Given the description of an element on the screen output the (x, y) to click on. 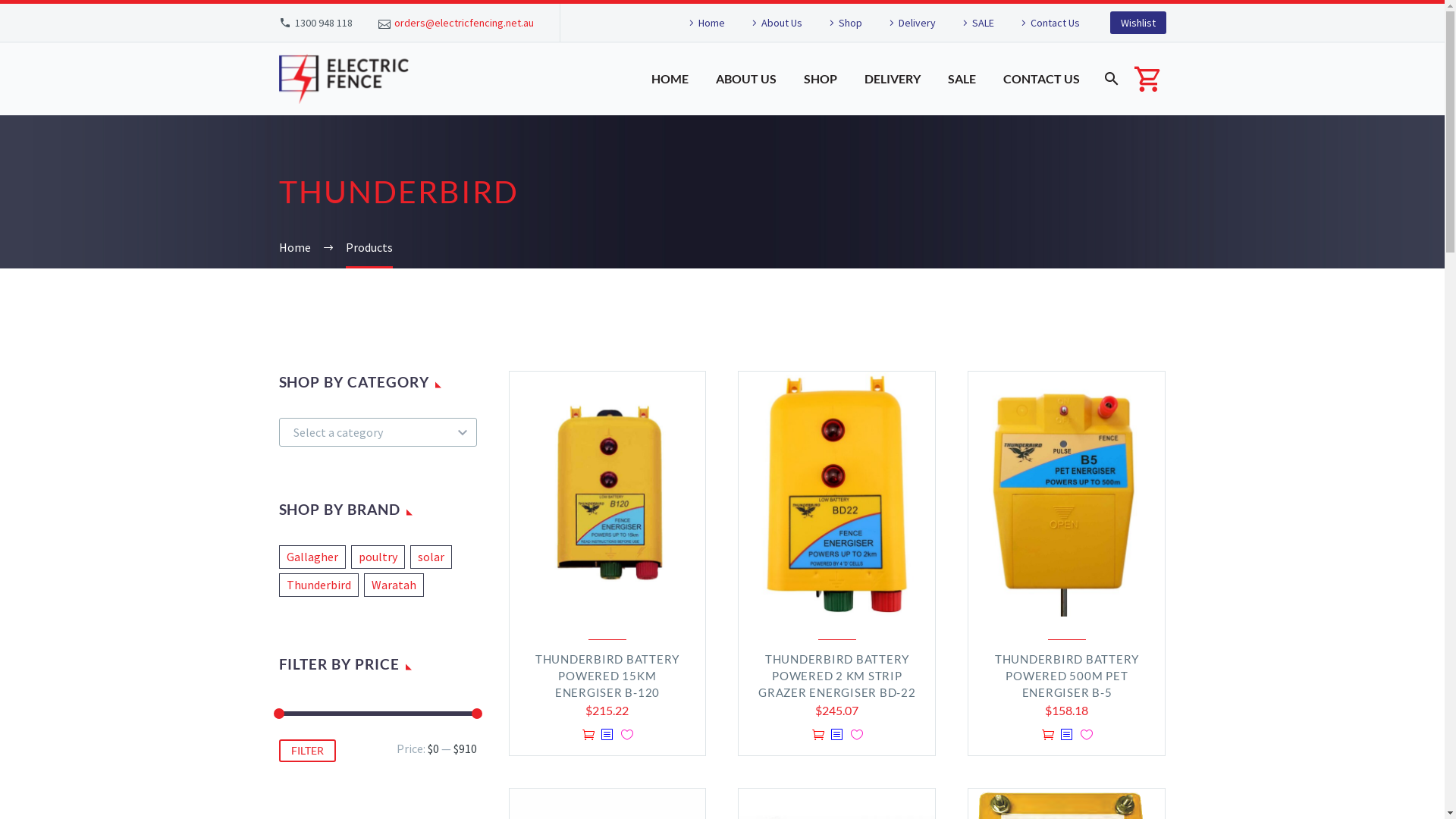
Thunderbird Element type: text (835, 550)
Thunderbird Element type: text (318, 584)
Waratah Element type: text (825, 597)
Home Element type: text (704, 22)
SALE Element type: text (976, 22)
Add to Wishlist Element type: text (856, 733)
My Wishlist Element type: text (672, 503)
Waratah Element type: text (393, 584)
Add to cart Element type: text (1047, 733)
Contact Us Element type: text (671, 419)
DELIVERY Element type: text (891, 78)
Delivery Element type: text (909, 22)
FILTER Element type: text (307, 750)
Fencing Tools Element type: text (839, 490)
Wishlist Element type: text (1138, 22)
Add to cart Element type: text (588, 733)
Home Element type: text (294, 246)
HOME Element type: text (669, 78)
Contact Us Element type: text (1047, 22)
Permanent Fencing Element type: text (854, 419)
Add to Wishlist Element type: text (627, 733)
Pen and Pixel Element type: text (1058, 747)
SHOP Element type: text (819, 78)
THUNDERBIRD BATTERY POWERED 15KM ENERGISER B-120 Element type: text (607, 675)
Gate Hardware Element type: text (842, 443)
SALE Element type: text (960, 78)
Add to cart Element type: text (818, 733)
Gallagher MBS1800i Multi Powered Energiser Element type: text (1095, 417)
Gallagher Element type: text (312, 556)
Shop Element type: text (843, 22)
Add to Wishlist Element type: text (1086, 733)
About Us Element type: text (774, 22)
orders@electricfencing.net.au Element type: text (463, 22)
poultry Element type: text (377, 556)
orders@drstockfeeds.com.au Element type: text (354, 428)
Temporary Fencing Element type: text (853, 466)
My Account Element type: text (672, 479)
About Us Element type: text (666, 396)
Delivery INFO Element type: text (678, 526)
CONTACT US Element type: text (1041, 78)
solar Element type: text (430, 556)
THUNDERBIRD BATTERY POWERED 500M PET ENERGISER B-5 Element type: text (1066, 675)
Gallagher Element type: text (829, 573)
Power Element type: text (820, 396)
ABOUT US Element type: text (745, 78)
